Given the description of an element on the screen output the (x, y) to click on. 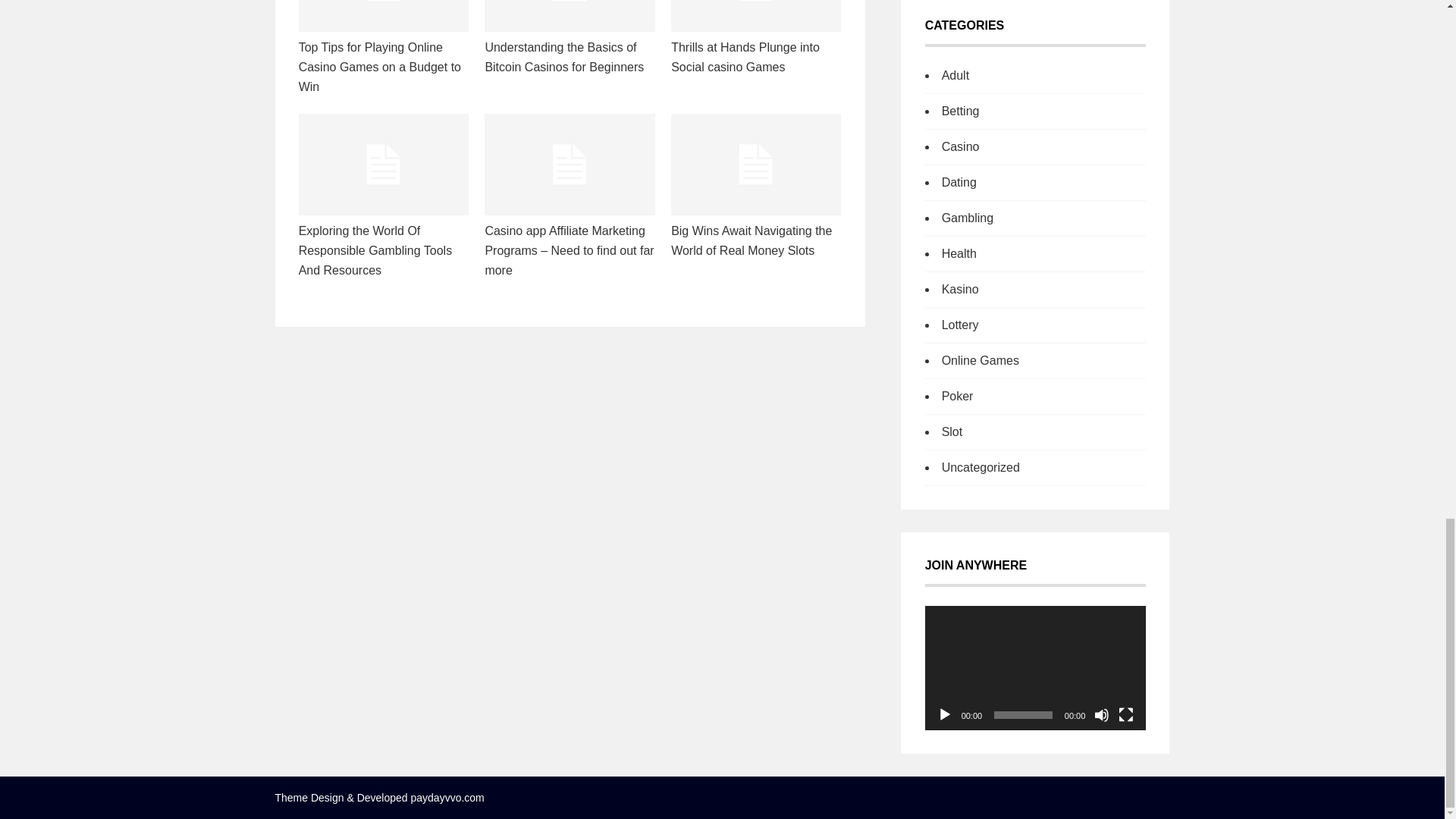
Mute (1101, 714)
Understanding the Basics of Bitcoin Casinos for Beginners (563, 56)
Play (944, 714)
Big Wins Await Navigating the World of Real Money Slots (751, 240)
Top Tips for Playing Online Casino Games on a Budget to Win (379, 66)
Fullscreen (1126, 714)
Thrills at Hands Plunge into Social casino Games (745, 56)
